Given the description of an element on the screen output the (x, y) to click on. 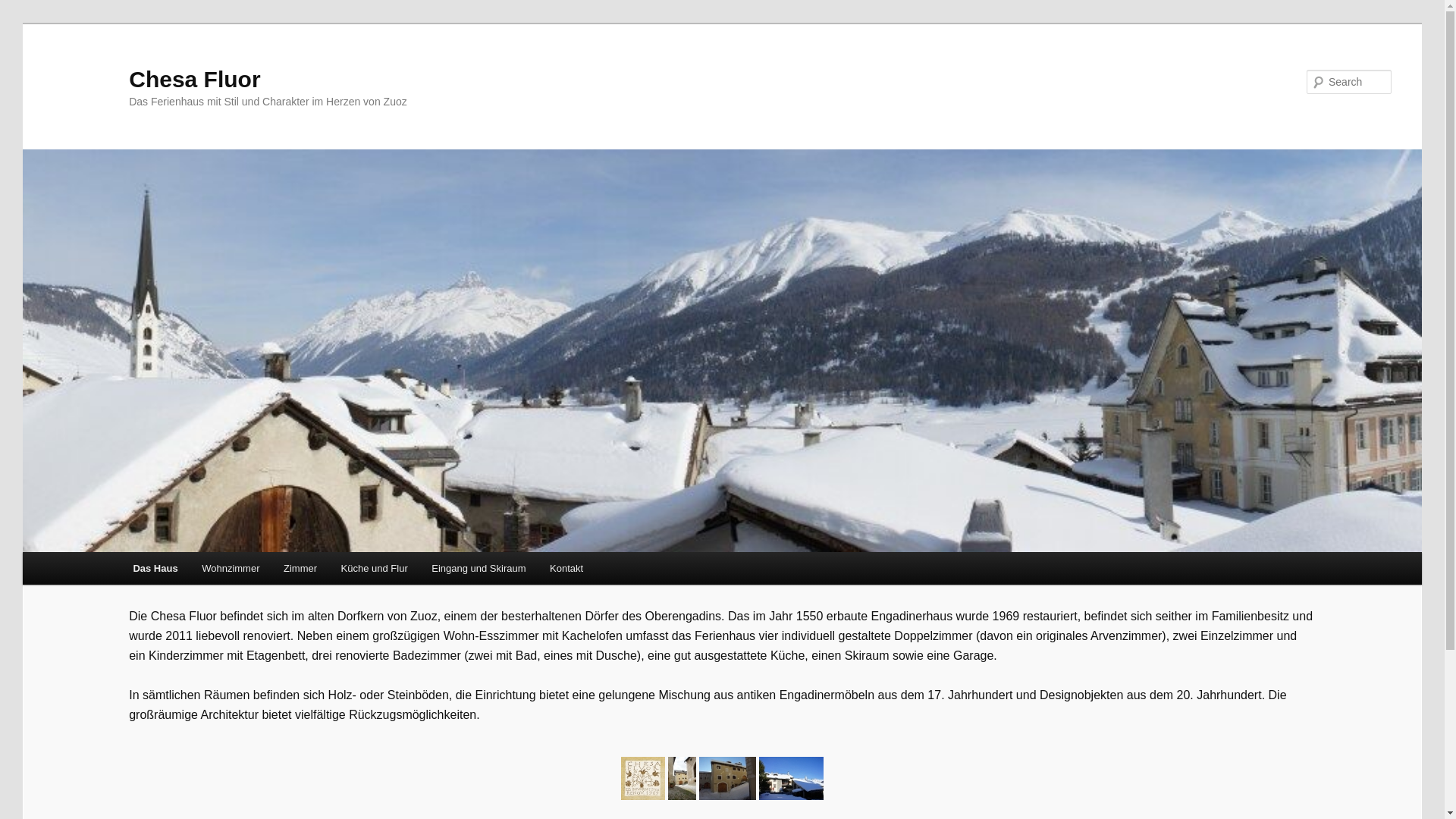
Eingang und Skiraum Element type: text (478, 568)
chesa-fluor_2 Element type: hover (682, 778)
SONY DSC Element type: hover (791, 778)
wappen_chesafluor Element type: hover (643, 778)
Chesa Fluor Element type: text (194, 78)
Kontakt Element type: text (566, 568)
chesa-fluor_1 Element type: hover (727, 778)
Wohnzimmer Element type: text (230, 568)
Search Element type: text (24, 8)
Skip to primary content Element type: text (22, 22)
Das Haus Element type: text (155, 568)
Zimmer Element type: text (300, 568)
